Given the description of an element on the screen output the (x, y) to click on. 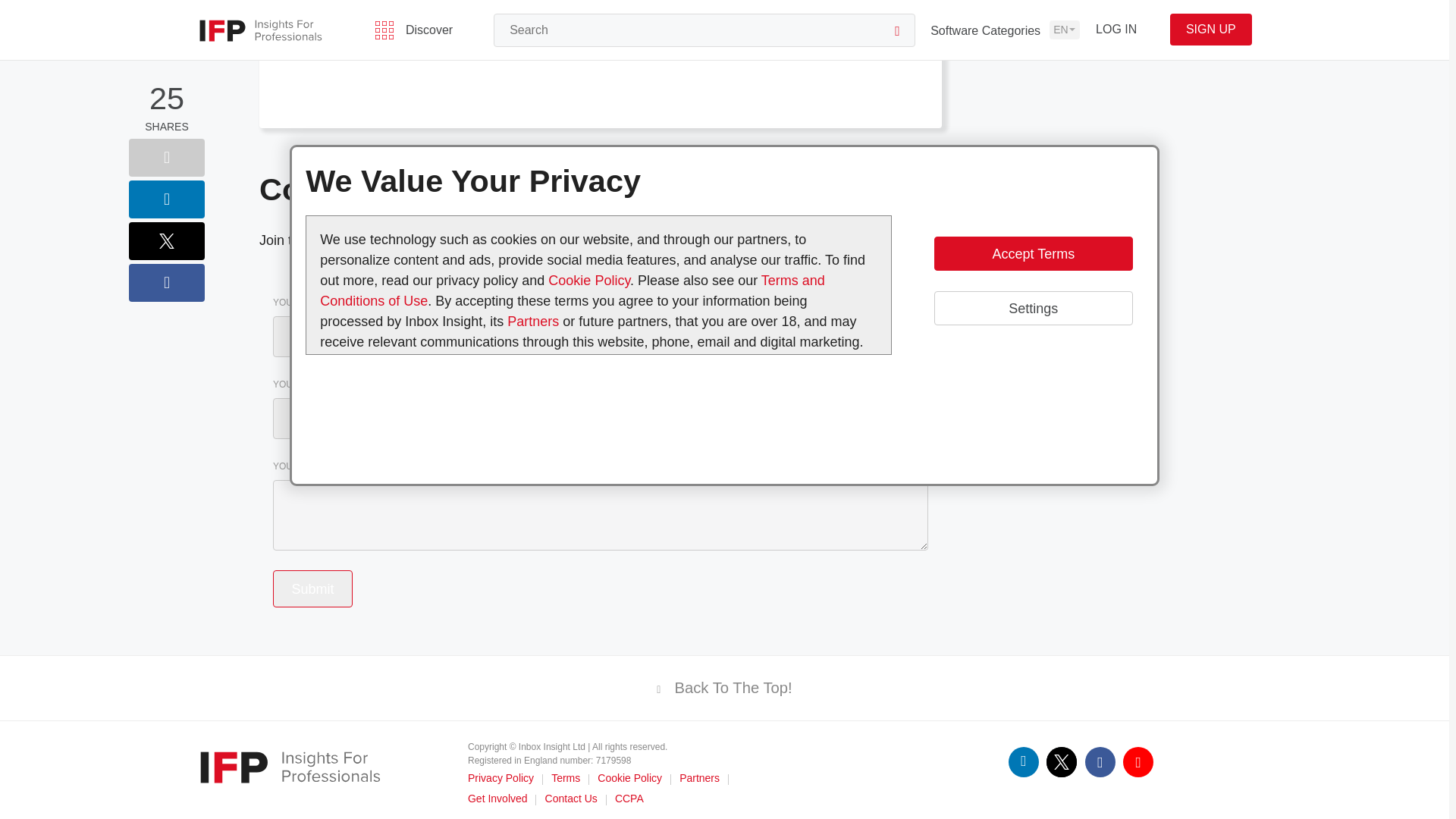
Twitter (1061, 761)
Submit (312, 588)
YouTube (1137, 761)
LinkedIn (1024, 761)
Facebook (1099, 761)
